Given the description of an element on the screen output the (x, y) to click on. 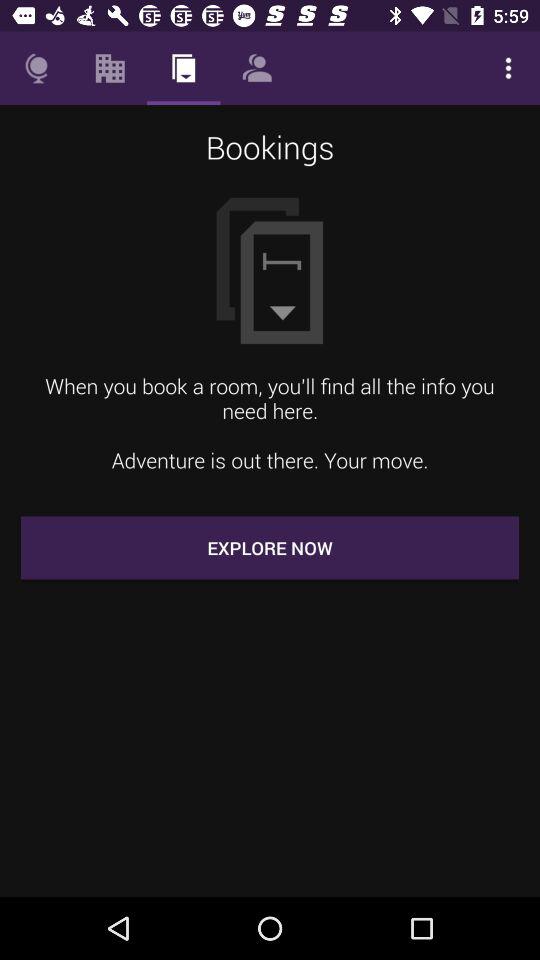
open item above the bookings (109, 68)
